Given the description of an element on the screen output the (x, y) to click on. 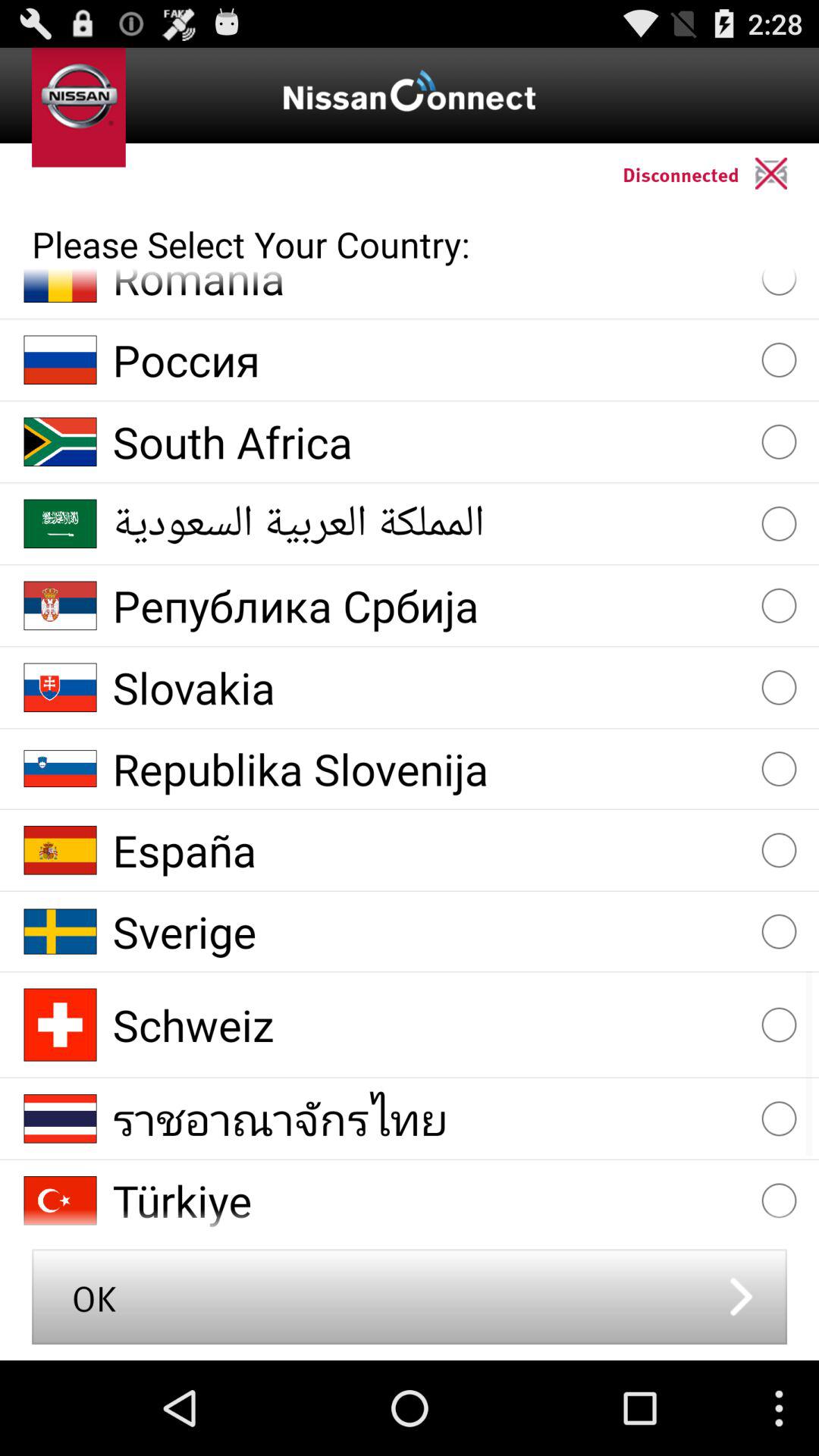
turn off the romania (429, 287)
